Given the description of an element on the screen output the (x, y) to click on. 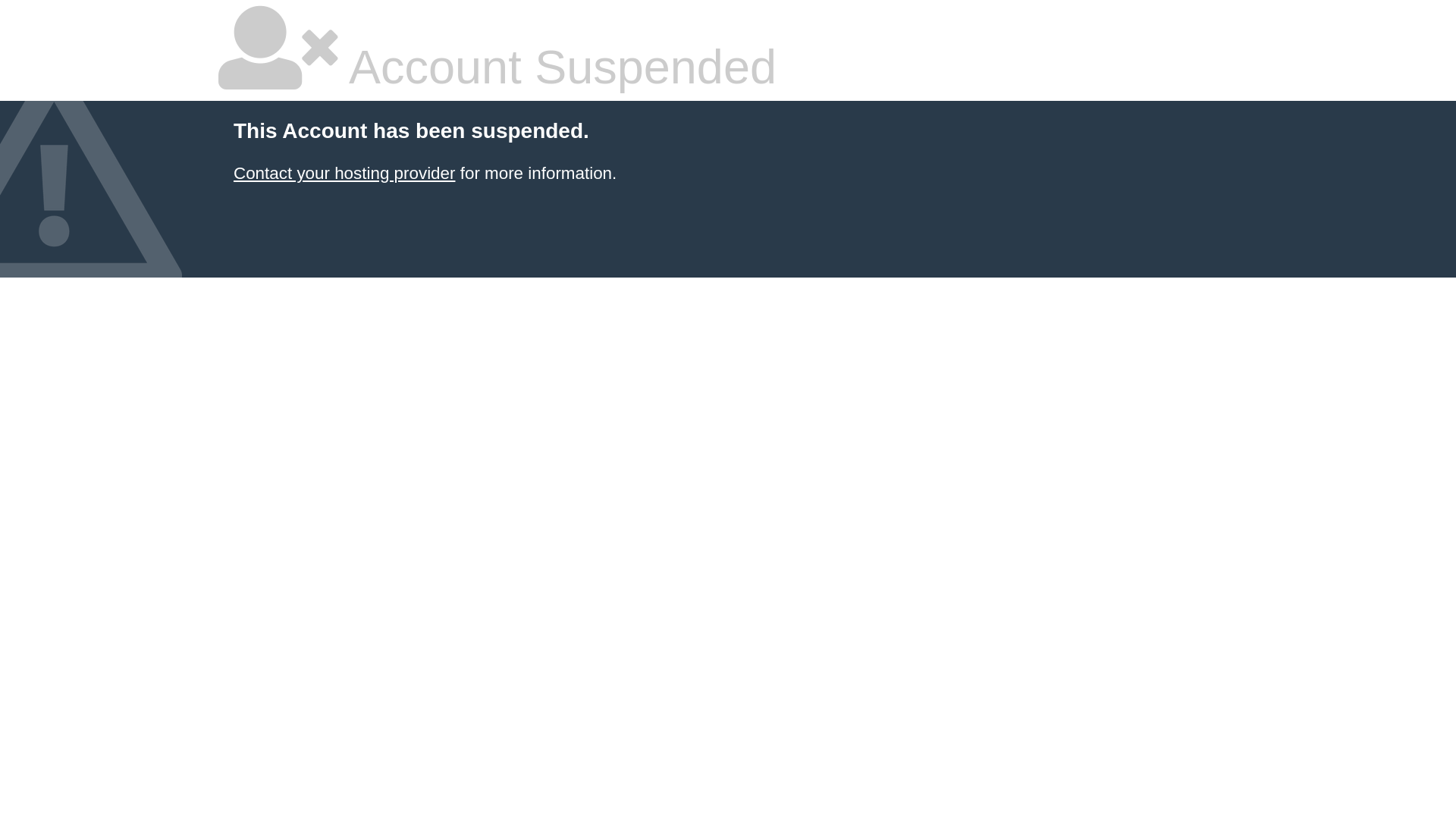
Contact your hosting provider Element type: text (344, 172)
